Given the description of an element on the screen output the (x, y) to click on. 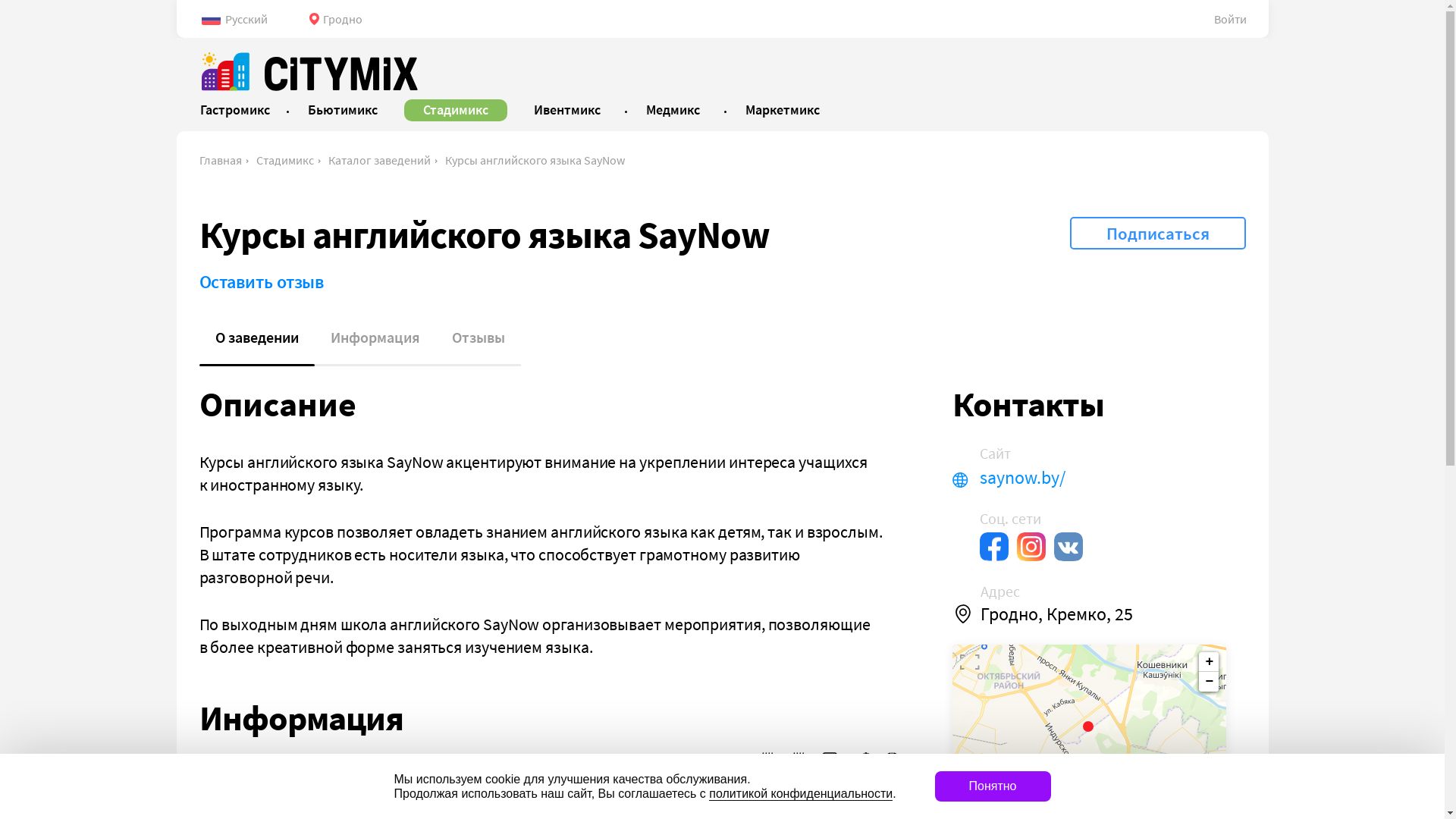
saynow.by/ Element type: text (1102, 477)
View Fullscreen Element type: hover (969, 661)
+ Element type: text (1208, 661)
